Given the description of an element on the screen output the (x, y) to click on. 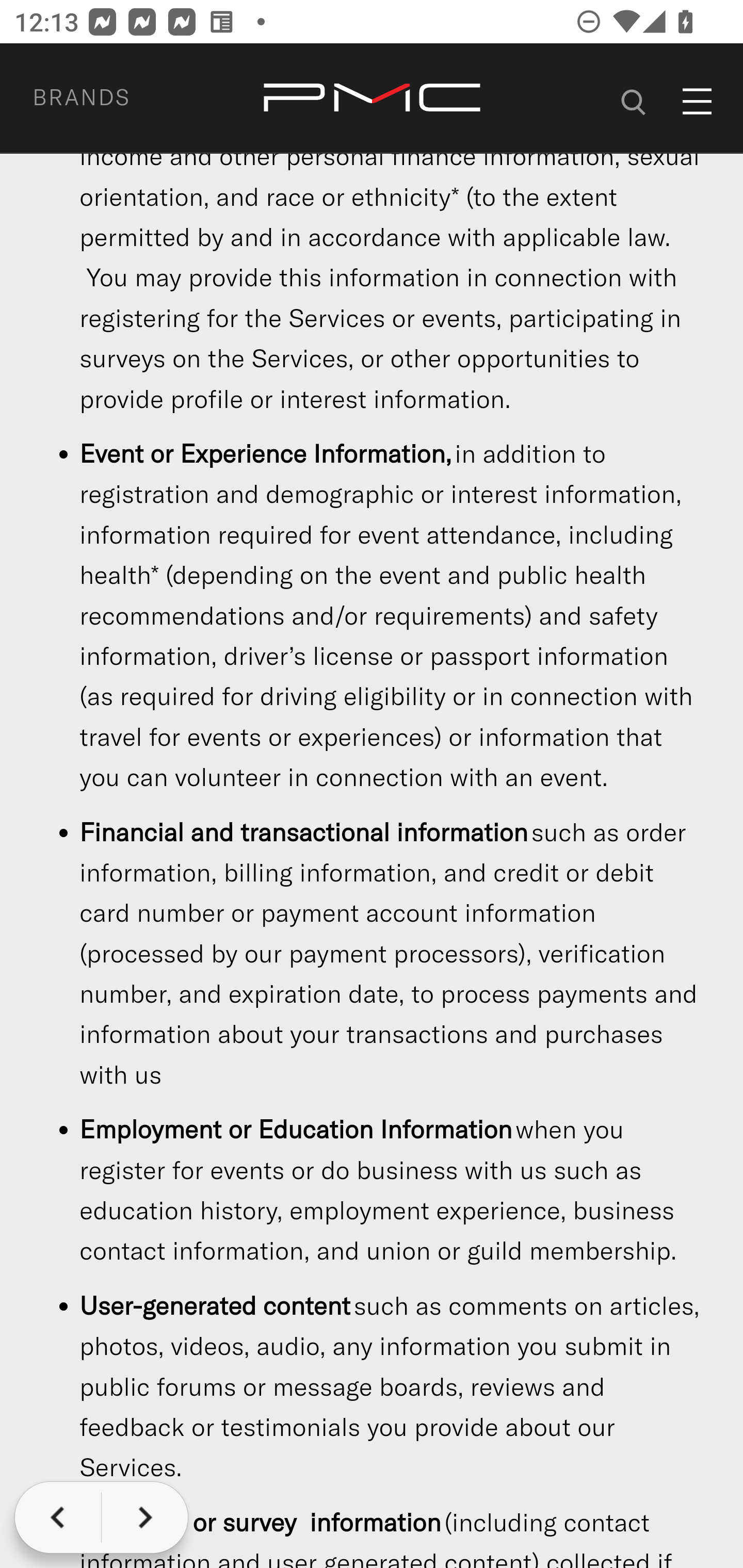
home (371, 98)
BRANDS (105, 99)
privacy-policy# (633, 99)
menu (697, 101)
